Given the description of an element on the screen output the (x, y) to click on. 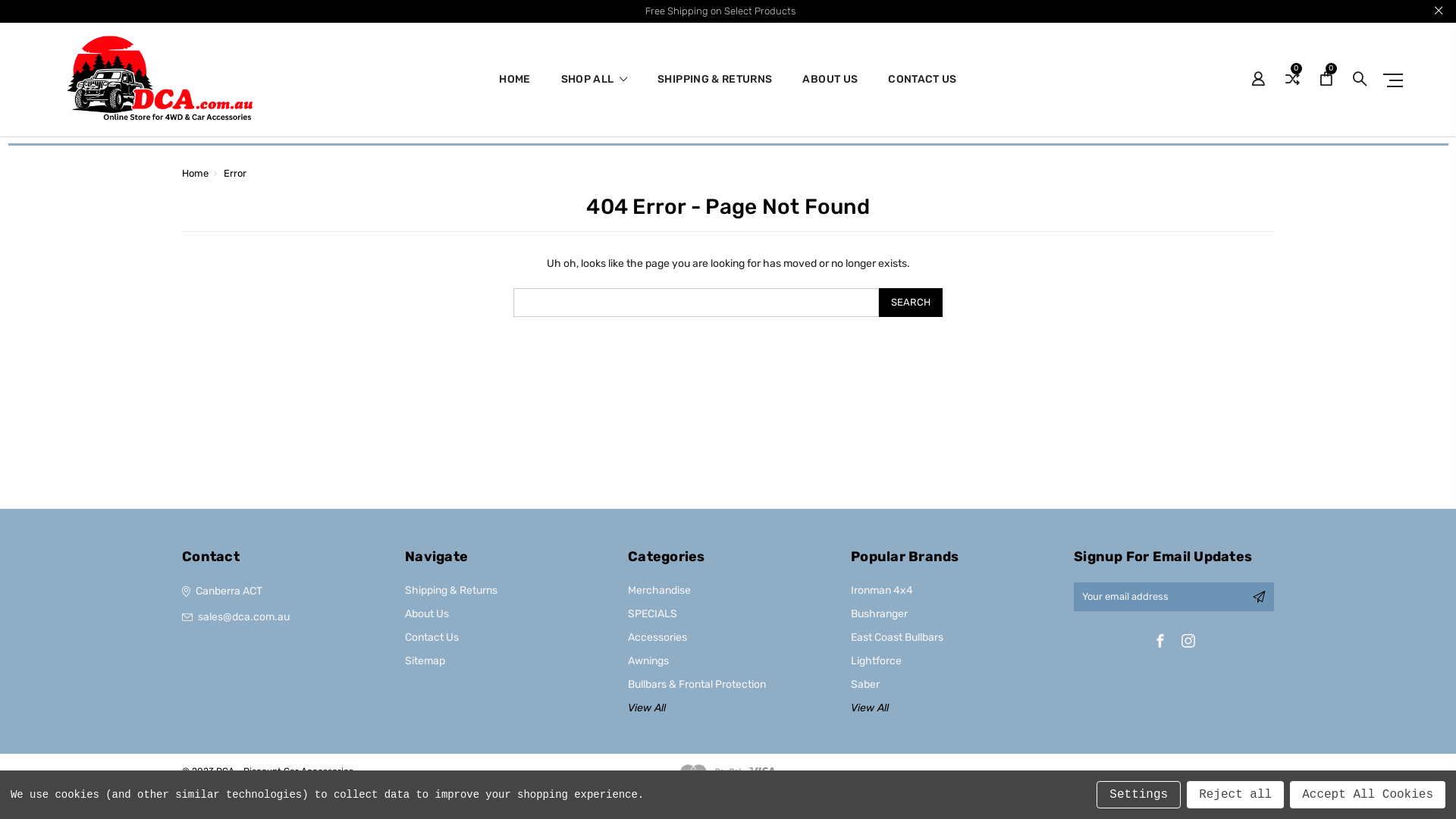
Search Element type: text (910, 302)
About Us Element type: text (426, 613)
DCA -  4WD & Car Accessories 
Pride Auto Accessories Online Element type: hover (156, 79)
Lightforce Element type: text (875, 660)
Ironman 4x4 Element type: text (881, 589)
CONTACT US Element type: text (922, 88)
HOME Element type: text (514, 88)
Accessories Element type: text (657, 636)
SHOP ALL Element type: text (594, 88)
Home Element type: text (195, 172)
Settings Element type: text (1138, 794)
Merchandise Element type: text (658, 589)
View All Element type: text (869, 707)
SHIPPING & RETURNS Element type: text (714, 88)
Saber Element type: text (864, 683)
Bullbars & Frontal Protection Element type: text (696, 683)
0 Element type: text (1325, 79)
0 Element type: text (1292, 79)
Sitemap Element type: text (424, 660)
Shipping & Returns Element type: text (450, 589)
Accept All Cookies Element type: text (1367, 794)
ABOUT US Element type: text (829, 88)
Contact Us Element type: text (431, 636)
Awnings Element type: text (647, 660)
East Coast Bullbars Element type: text (896, 636)
SPECIALS Element type: text (652, 613)
Bushranger Element type: text (878, 613)
sales@dca.com.au Element type: text (282, 617)
Reject all Element type: text (1234, 794)
View All Element type: text (646, 707)
